Given the description of an element on the screen output the (x, y) to click on. 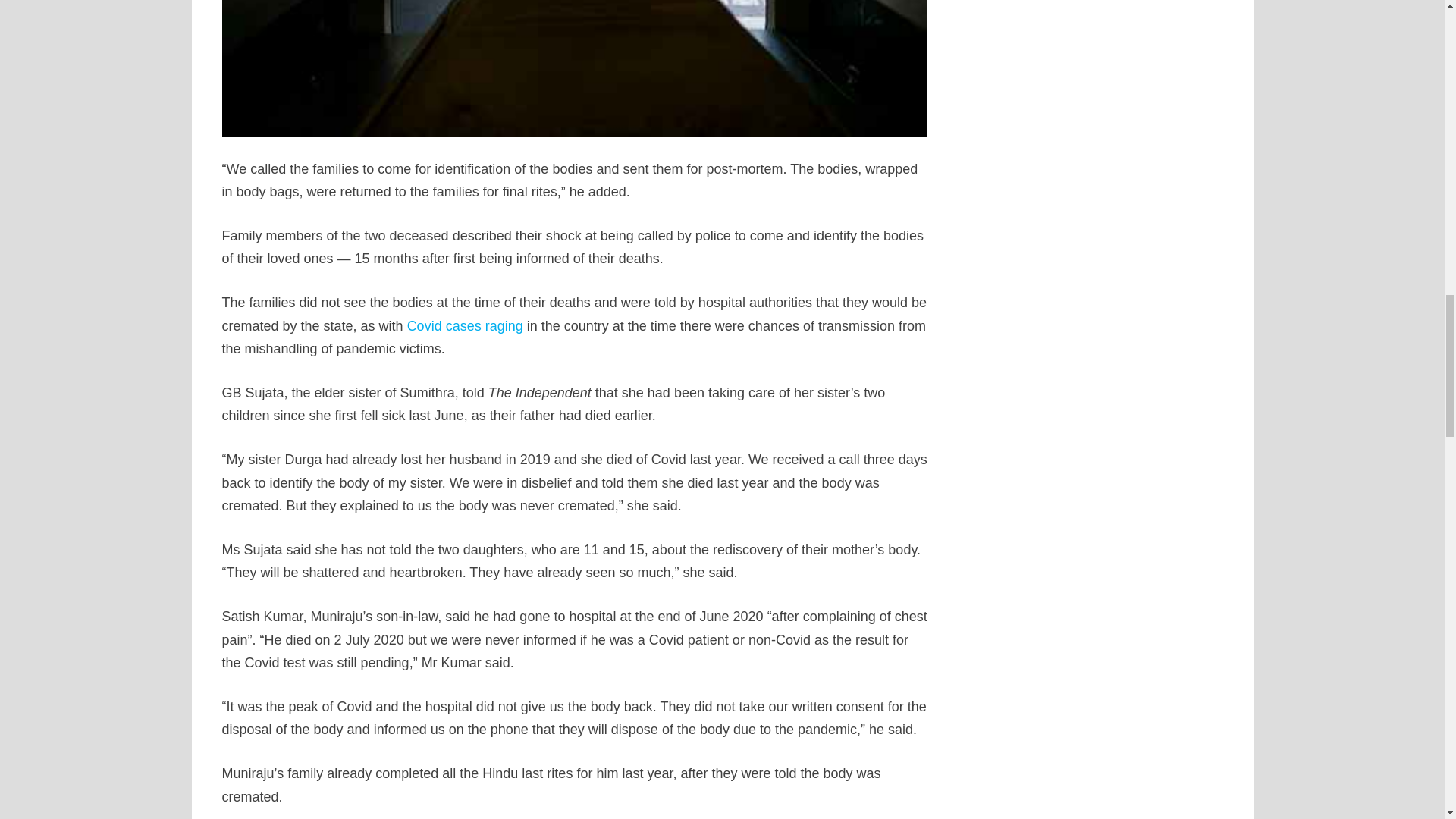
Covid cases raging (464, 325)
